Given the description of an element on the screen output the (x, y) to click on. 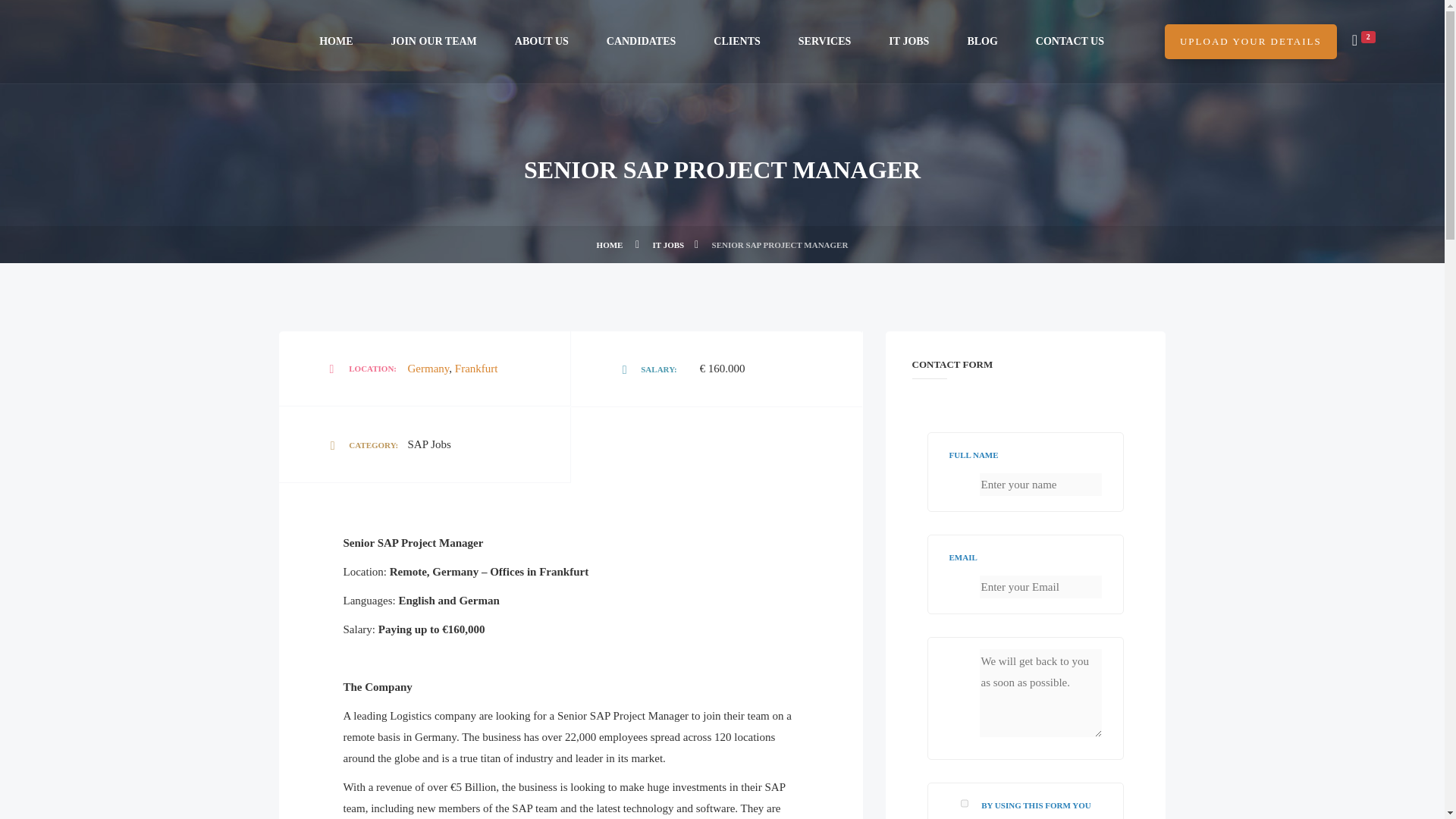
UPLOAD YOUR DETAILS (1250, 41)
